Given the description of an element on the screen output the (x, y) to click on. 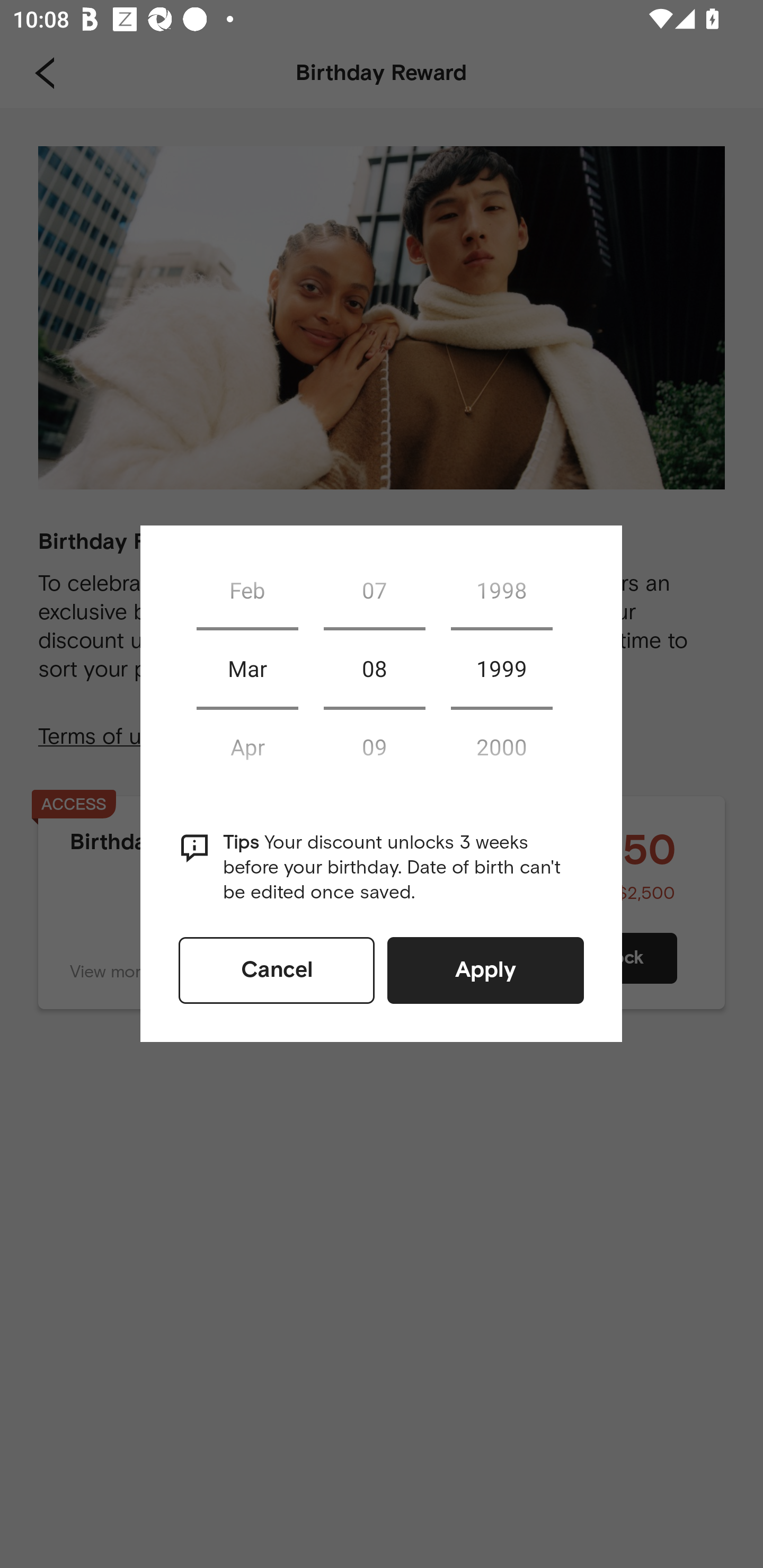
Feb (247, 590)
07 (374, 590)
1998 (501, 590)
Mar (247, 668)
08 (374, 668)
1999 (501, 668)
Apr (247, 746)
09 (374, 746)
2000 (501, 746)
Cancel (276, 970)
Apply (485, 970)
